Given the description of an element on the screen output the (x, y) to click on. 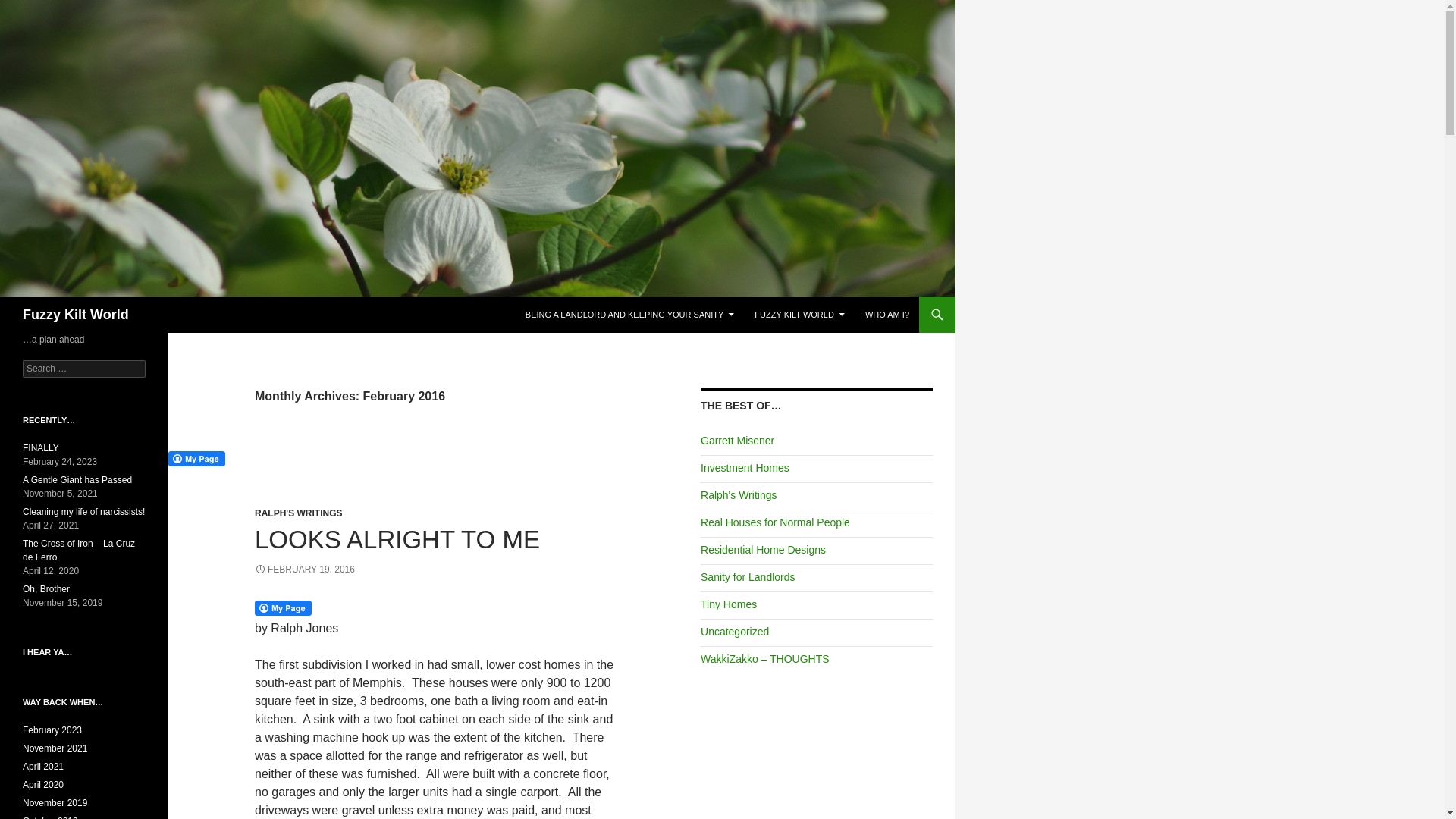
Fuzzy Kilt World (76, 314)
BEING A LANDLORD AND KEEPING YOUR SANITY (629, 314)
FEBRUARY 19, 2016 (304, 569)
FUZZY KILT WORLD (799, 314)
Investment Homes (744, 467)
Garrett Misener (737, 440)
RALPH'S WRITINGS (298, 512)
LOOKS ALRIGHT TO ME (397, 539)
WHO AM I? (887, 314)
